Given the description of an element on the screen output the (x, y) to click on. 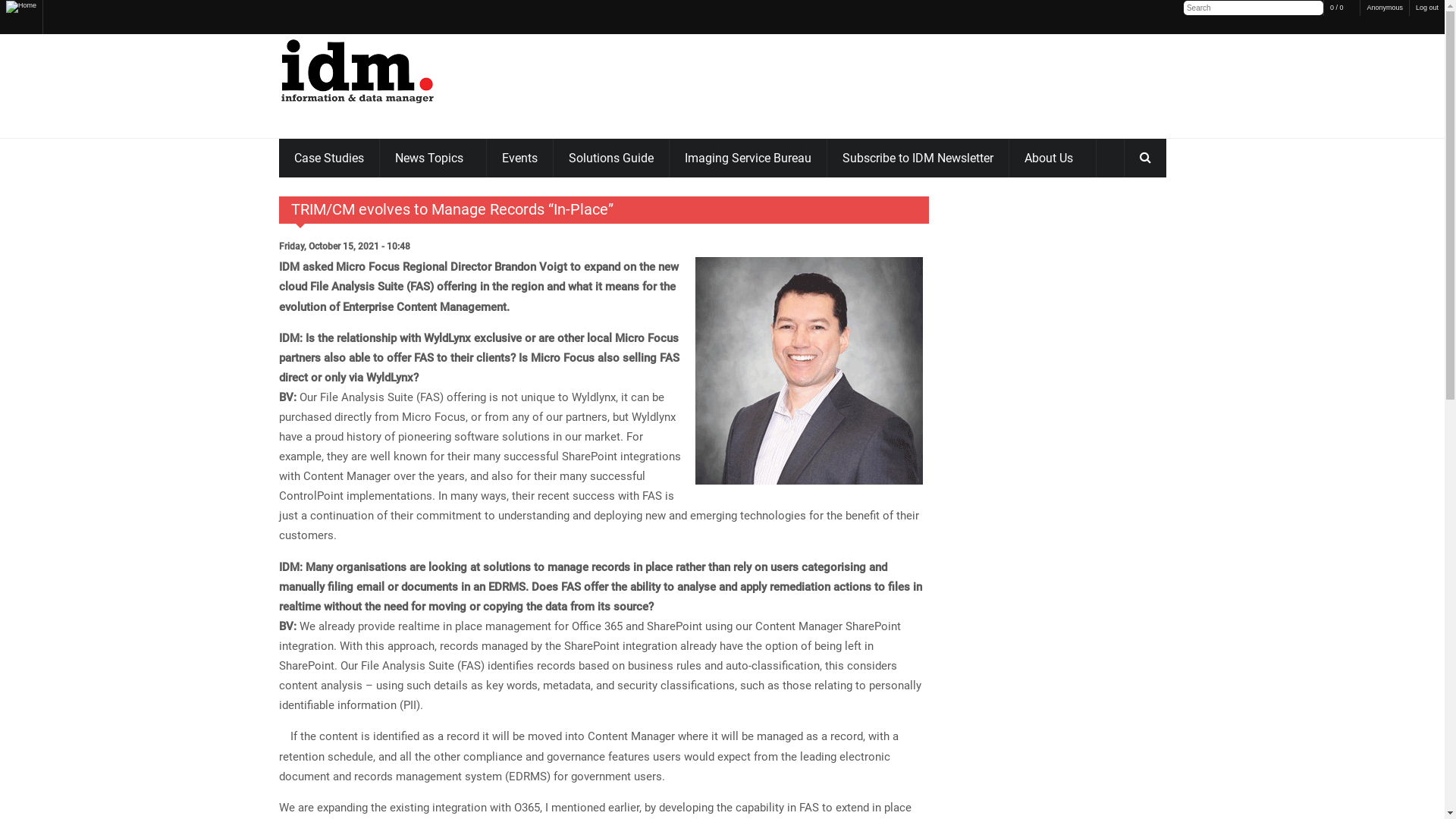
News Topics Element type: text (432, 157)
Solutions Guide Element type: text (610, 157)
Imaging Service Bureau Element type: text (746, 157)
IDM Magazine Element type: hover (357, 68)
Log out Element type: text (1426, 7)
About Us Element type: text (1051, 157)
Anonymous Element type: text (1383, 7)
0 / 0 Element type: text (1341, 7)
Skip to main content Element type: text (52, 22)
Subscribe to IDM Newsletter Element type: text (916, 157)
Events Element type: text (519, 157)
Case Studies Element type: text (329, 157)
